Given the description of an element on the screen output the (x, y) to click on. 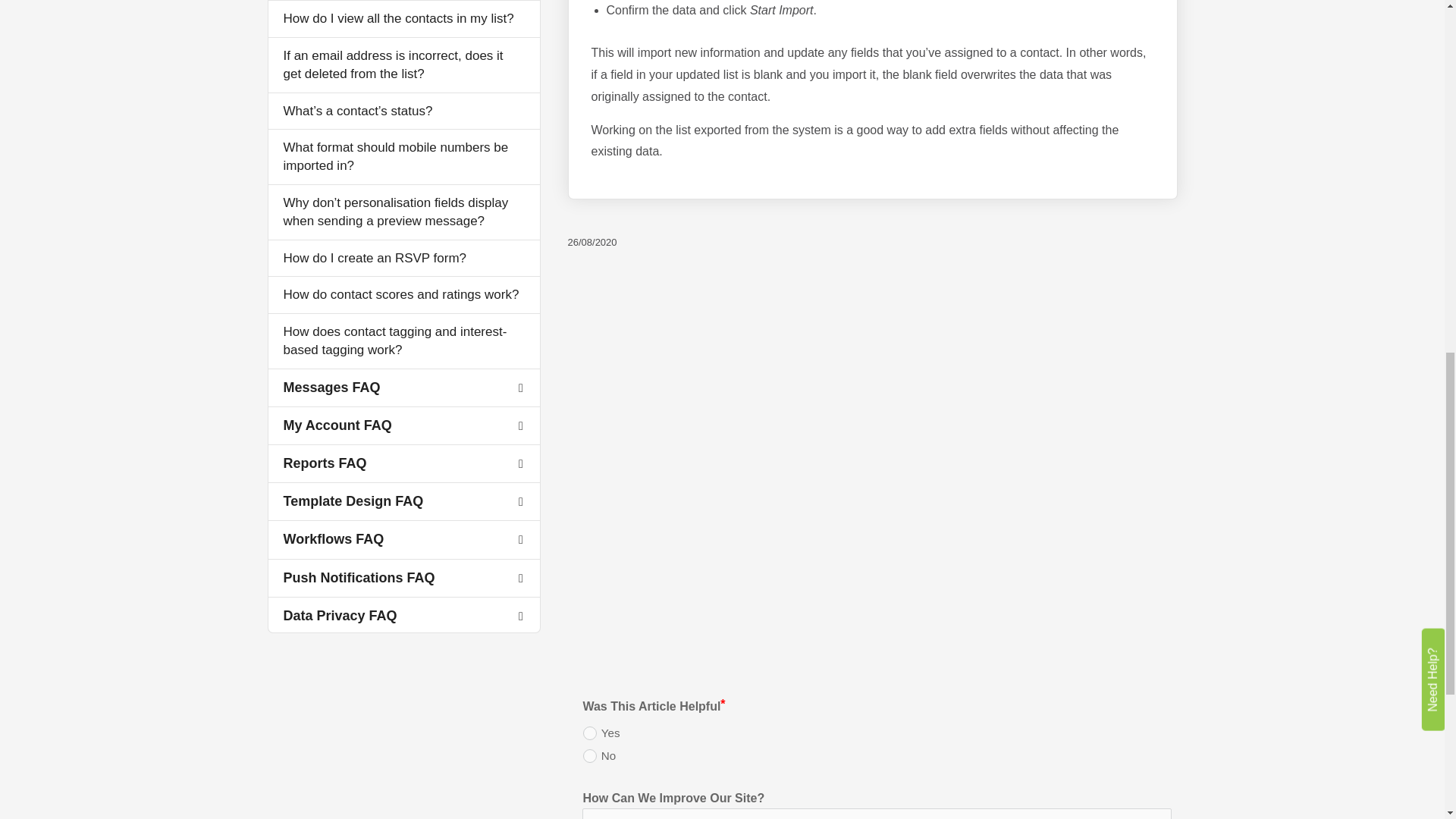
Yes (589, 733)
No (589, 755)
